Given the description of an element on the screen output the (x, y) to click on. 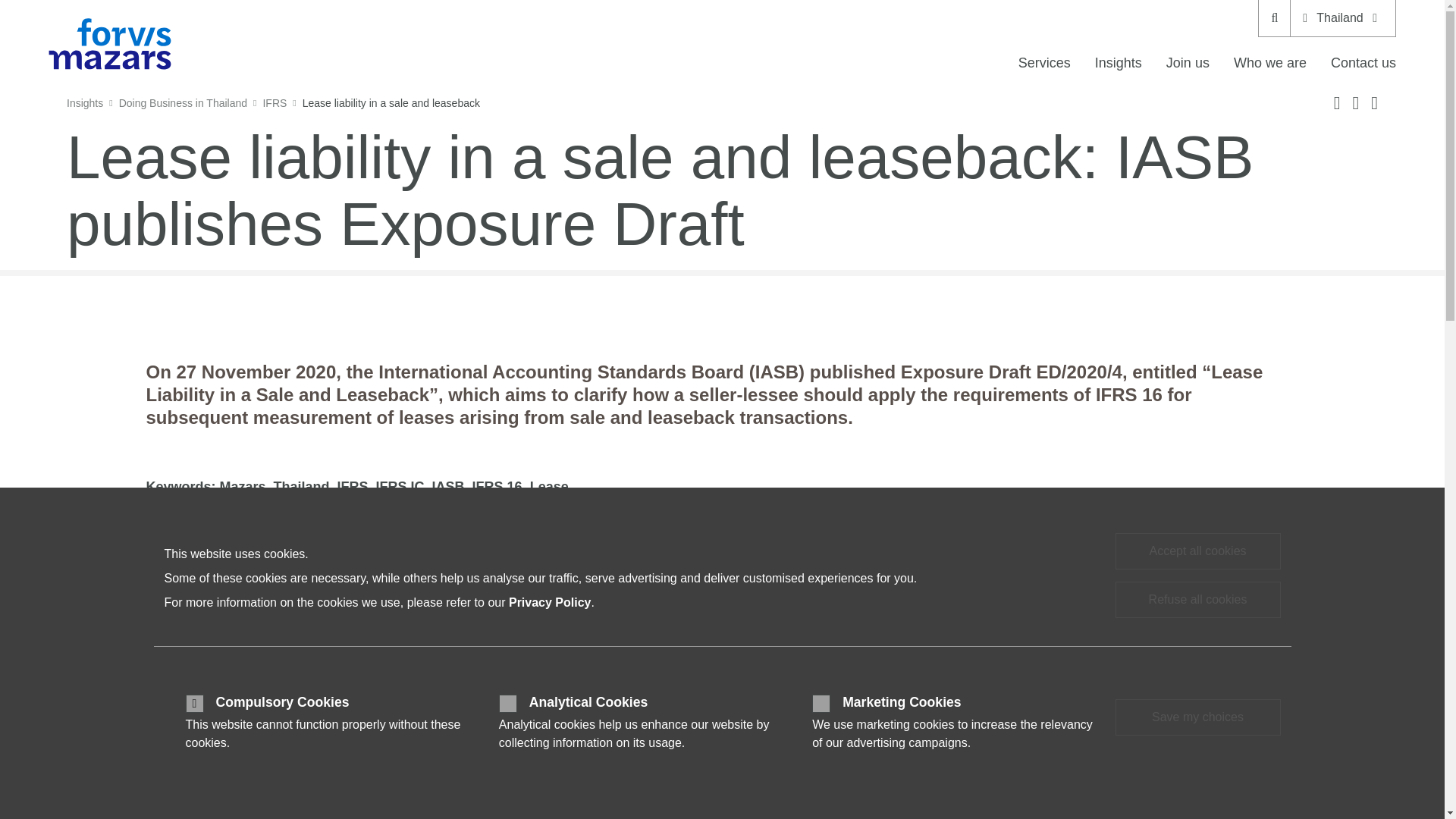
Thailand (1342, 18)
